Given the description of an element on the screen output the (x, y) to click on. 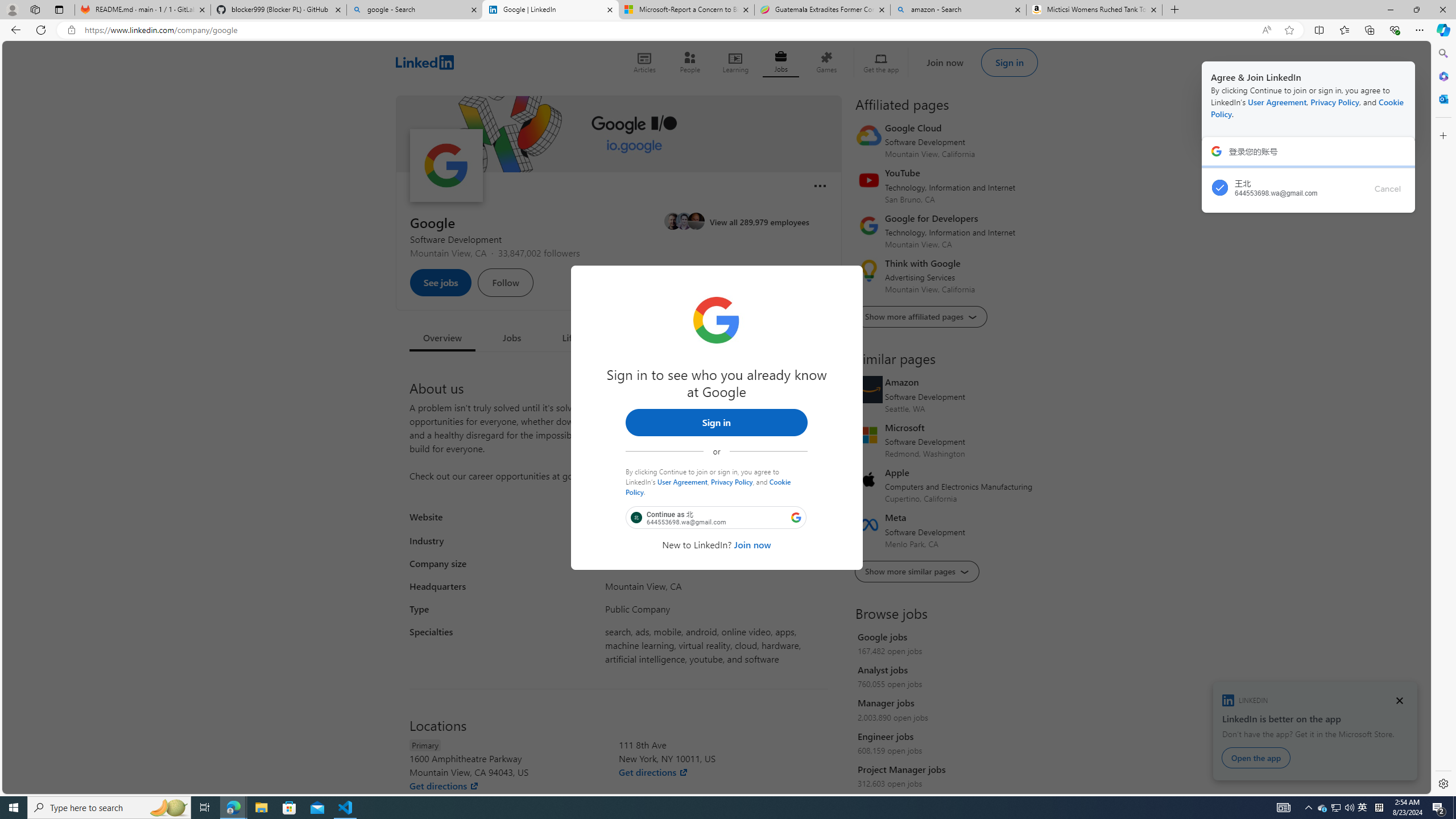
Class: LgbsSe-Bz112c (795, 516)
Cookie Policy (708, 486)
